Given the description of an element on the screen output the (x, y) to click on. 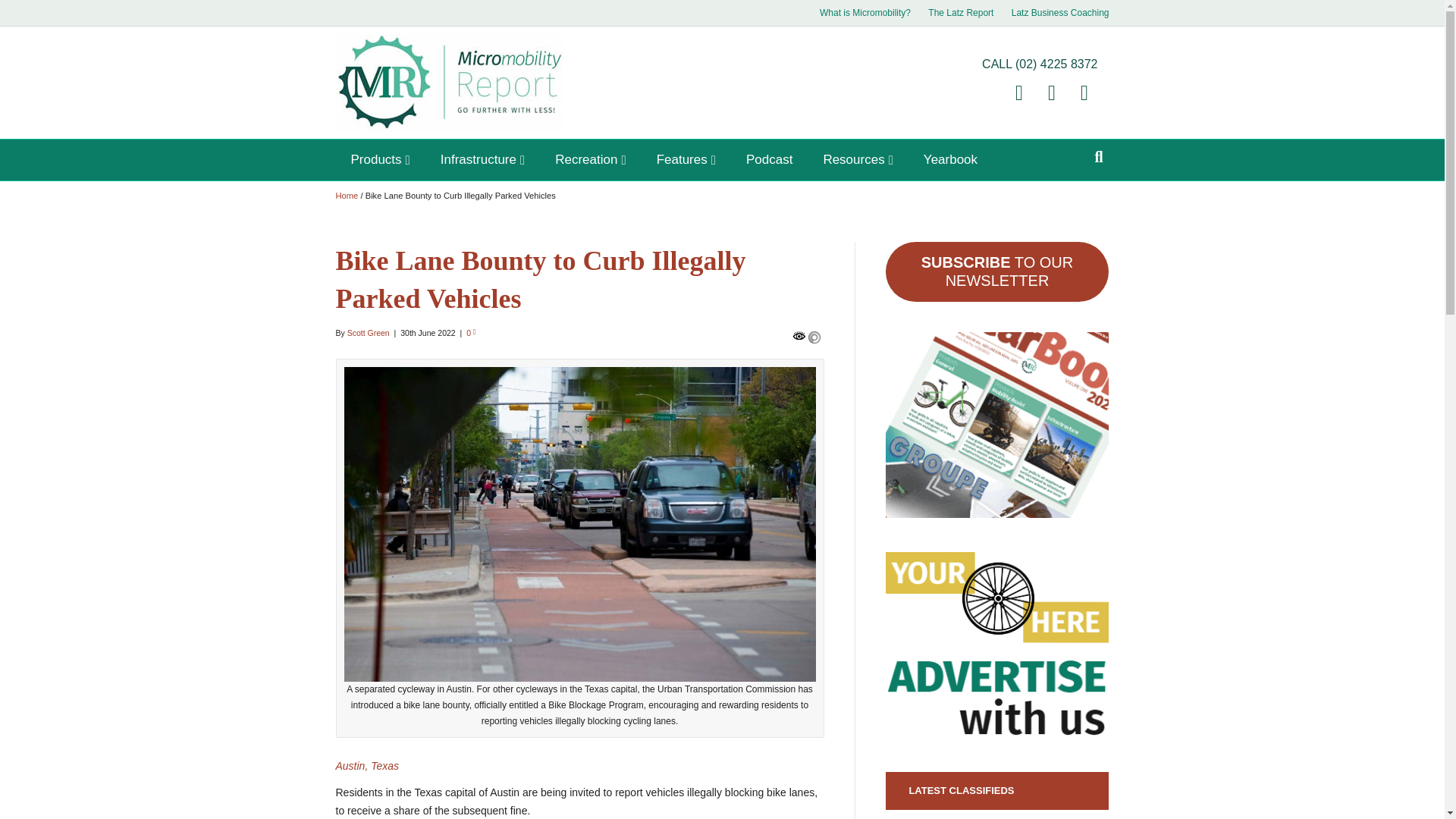
Micromobility Definition (865, 13)
Micromobility Features (686, 159)
Micromobility Infrastructure (482, 159)
